Given the description of an element on the screen output the (x, y) to click on. 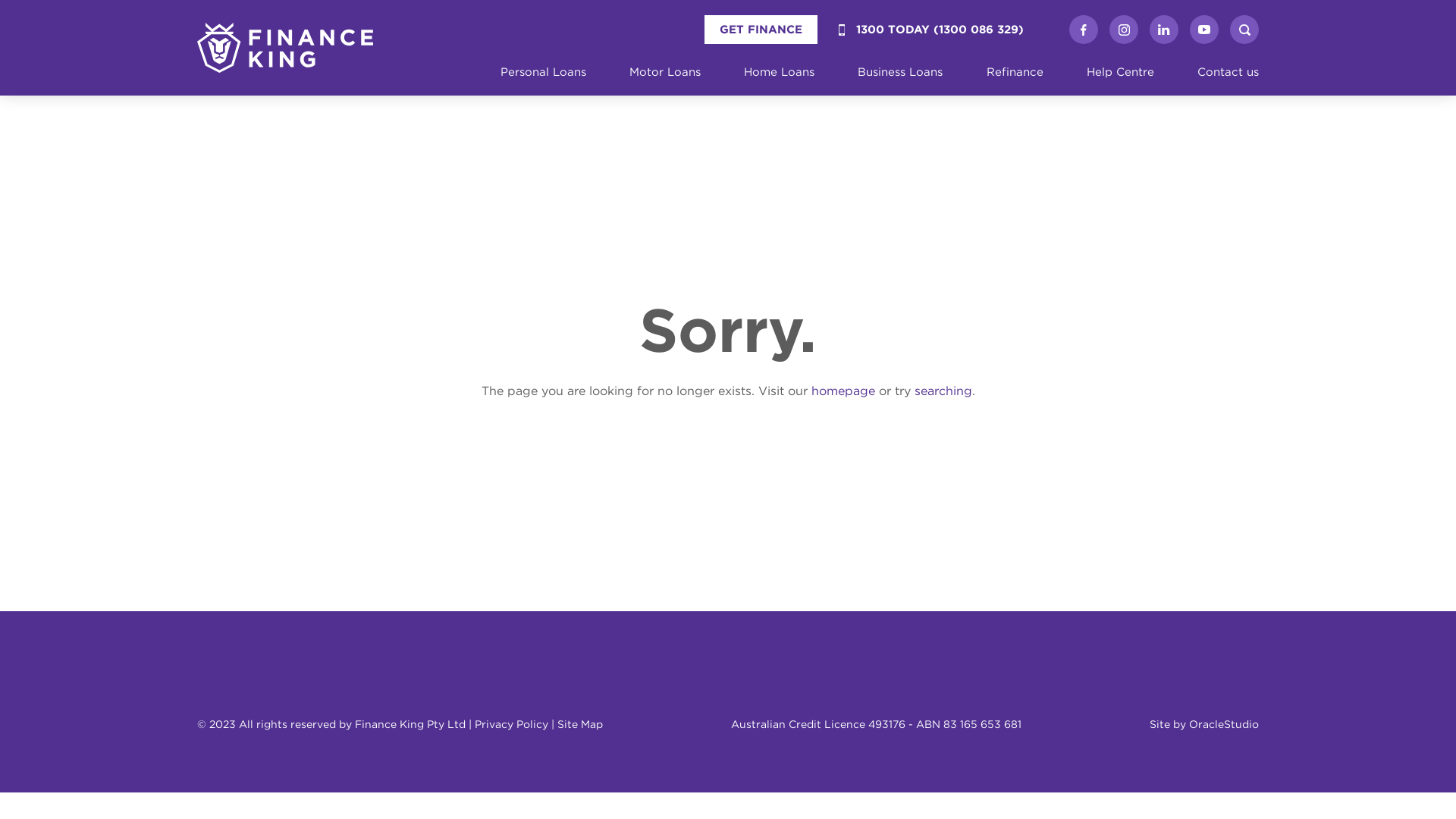
Refinance Element type: text (1014, 72)
OracleStudio Element type: text (1223, 724)
GET FINANCE Element type: text (760, 29)
Privacy Policy Element type: text (511, 724)
homepage Element type: text (843, 390)
Site Map Element type: text (579, 724)
Help Centre Element type: text (1120, 72)
Business Loans Element type: text (899, 72)
searching Element type: text (943, 390)
1300 TODAY (1300 086 329) Element type: text (930, 29)
Motor Loans Element type: text (664, 72)
Contact us Element type: text (1227, 72)
Personal Loans Element type: text (543, 72)
Home Loans Element type: text (778, 72)
